Given the description of an element on the screen output the (x, y) to click on. 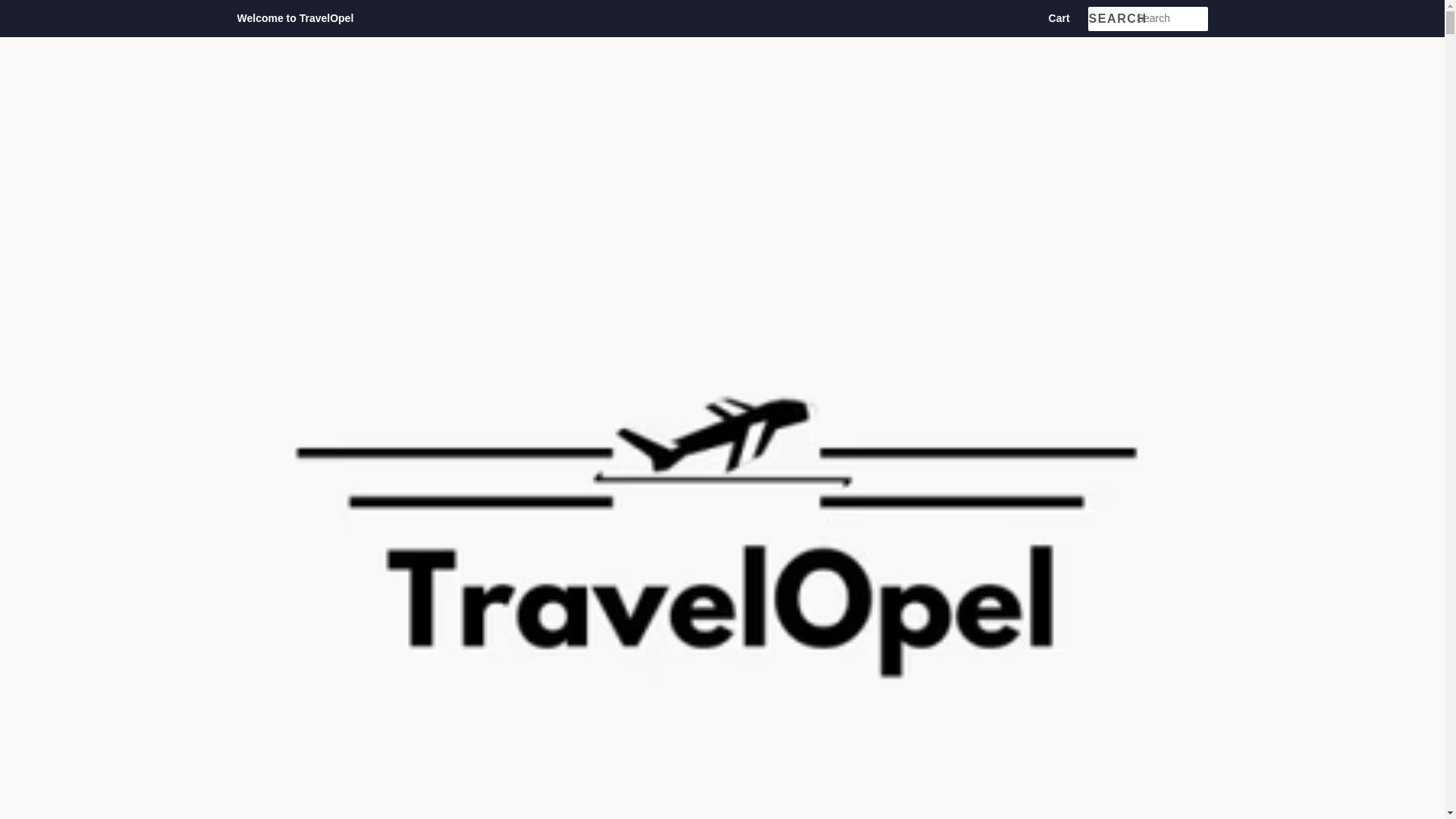
Cart (1059, 18)
SEARCH (1111, 18)
